Given the description of an element on the screen output the (x, y) to click on. 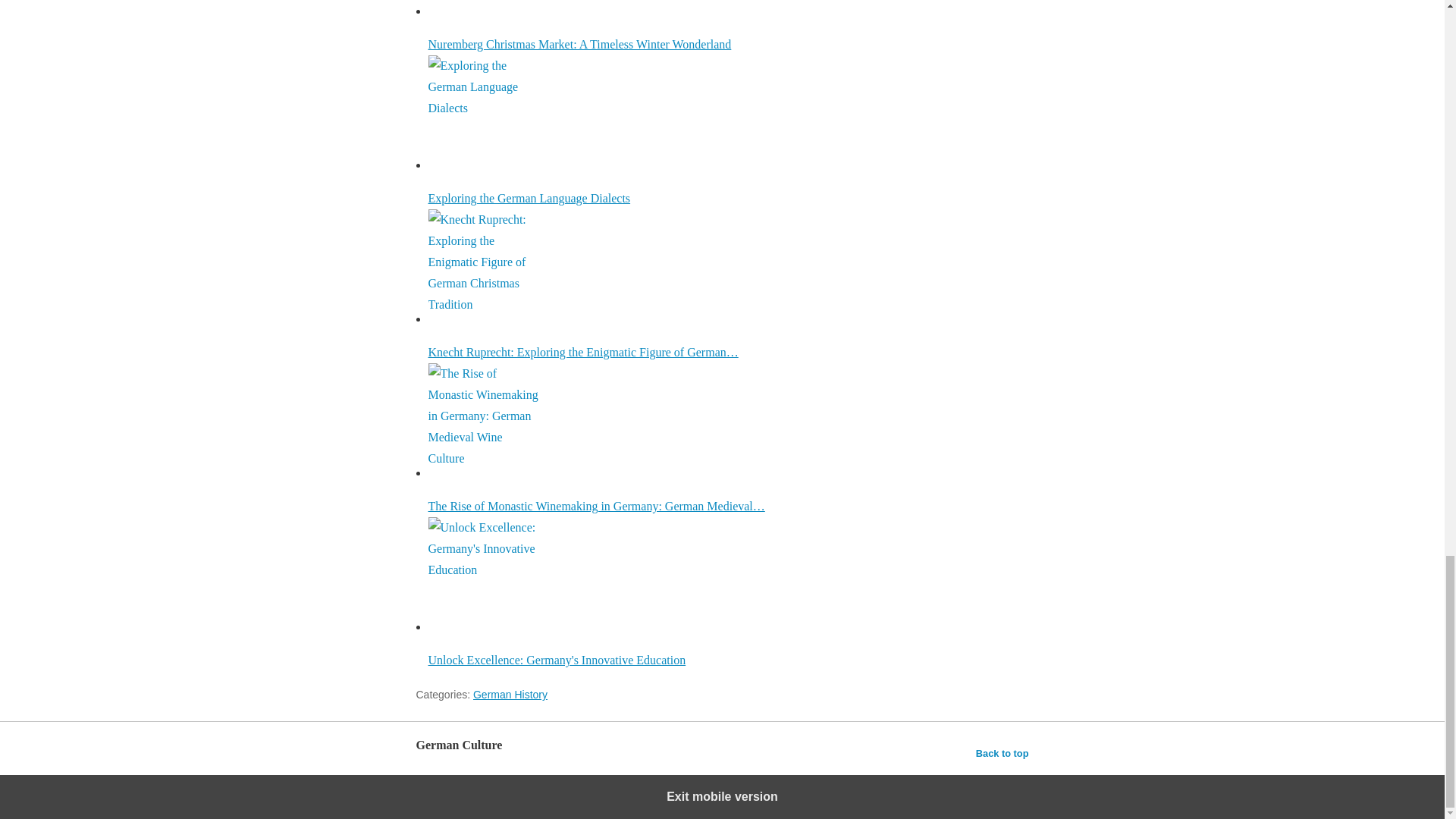
Nuremberg Christmas Market: A Timeless Winter Wonderland (484, 7)
Exploring the German Language Dialects (727, 129)
Nuremberg Christmas Market: A Timeless Winter Wonderland (727, 25)
Unlock Excellence: Germany's Innovative Education (484, 573)
Unlock Excellence: Germany's Innovative Education (727, 591)
Exploring the German Language Dialects (484, 111)
German History (510, 694)
Back to top (1002, 753)
